Given the description of an element on the screen output the (x, y) to click on. 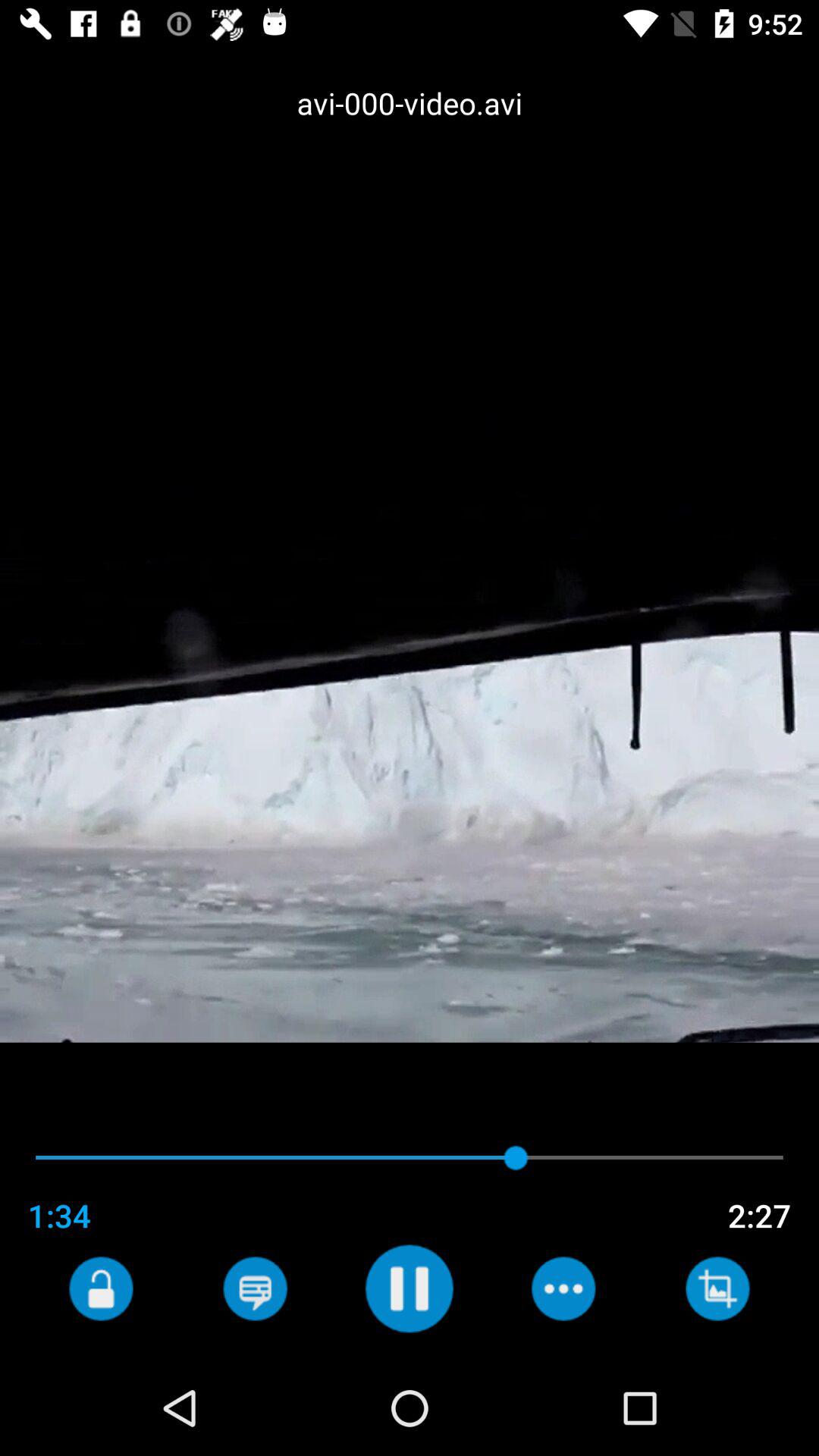
pause playback (409, 1288)
